Given the description of an element on the screen output the (x, y) to click on. 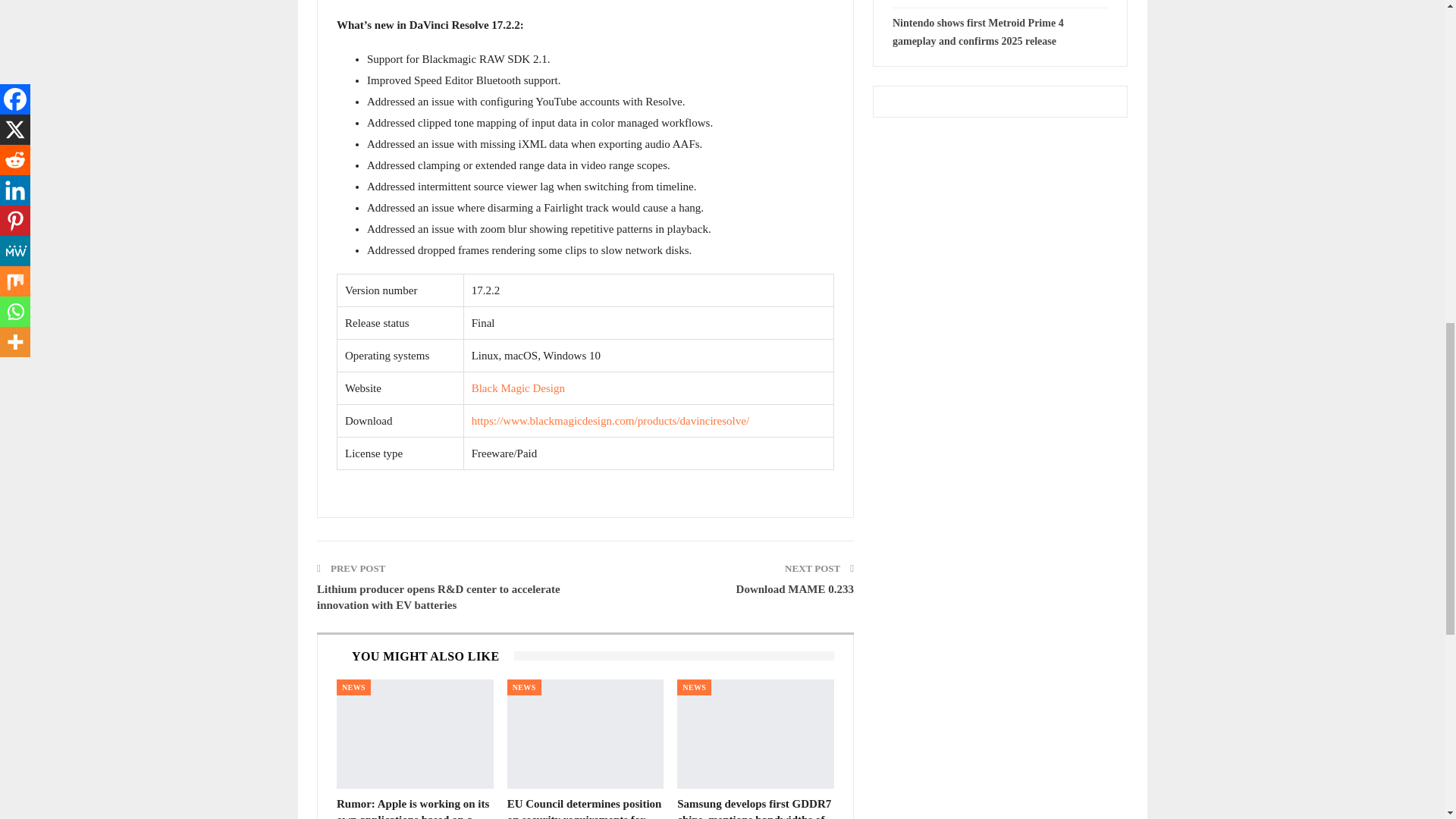
Black Magic Design (517, 387)
